Given the description of an element on the screen output the (x, y) to click on. 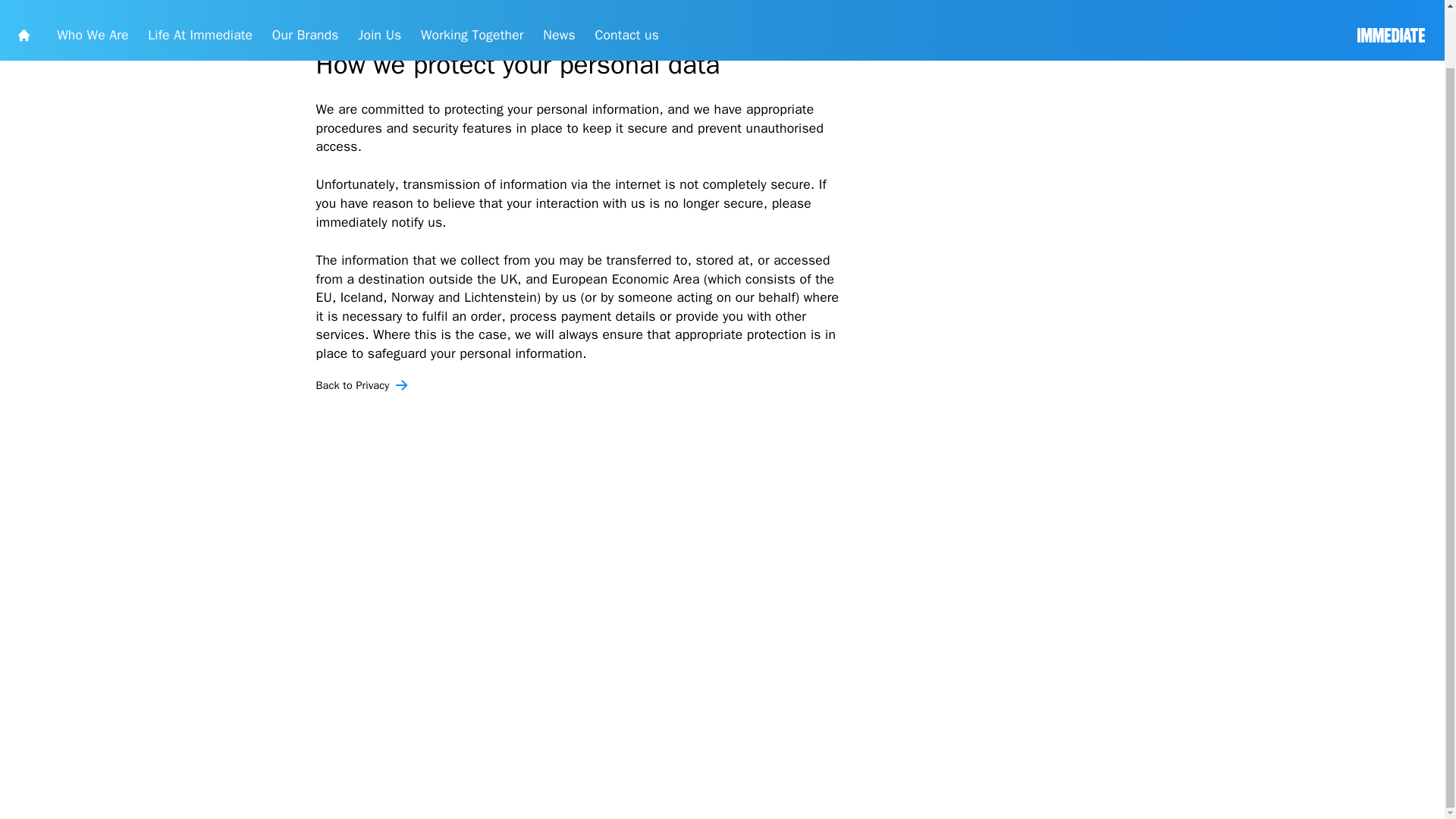
News (698, 6)
Back to Privacy (902, 496)
Our Brands (382, 6)
Join Us (474, 6)
Who We Are (116, 6)
Life At Immediate (250, 6)
Working Together (589, 6)
Contact us (782, 6)
